Given the description of an element on the screen output the (x, y) to click on. 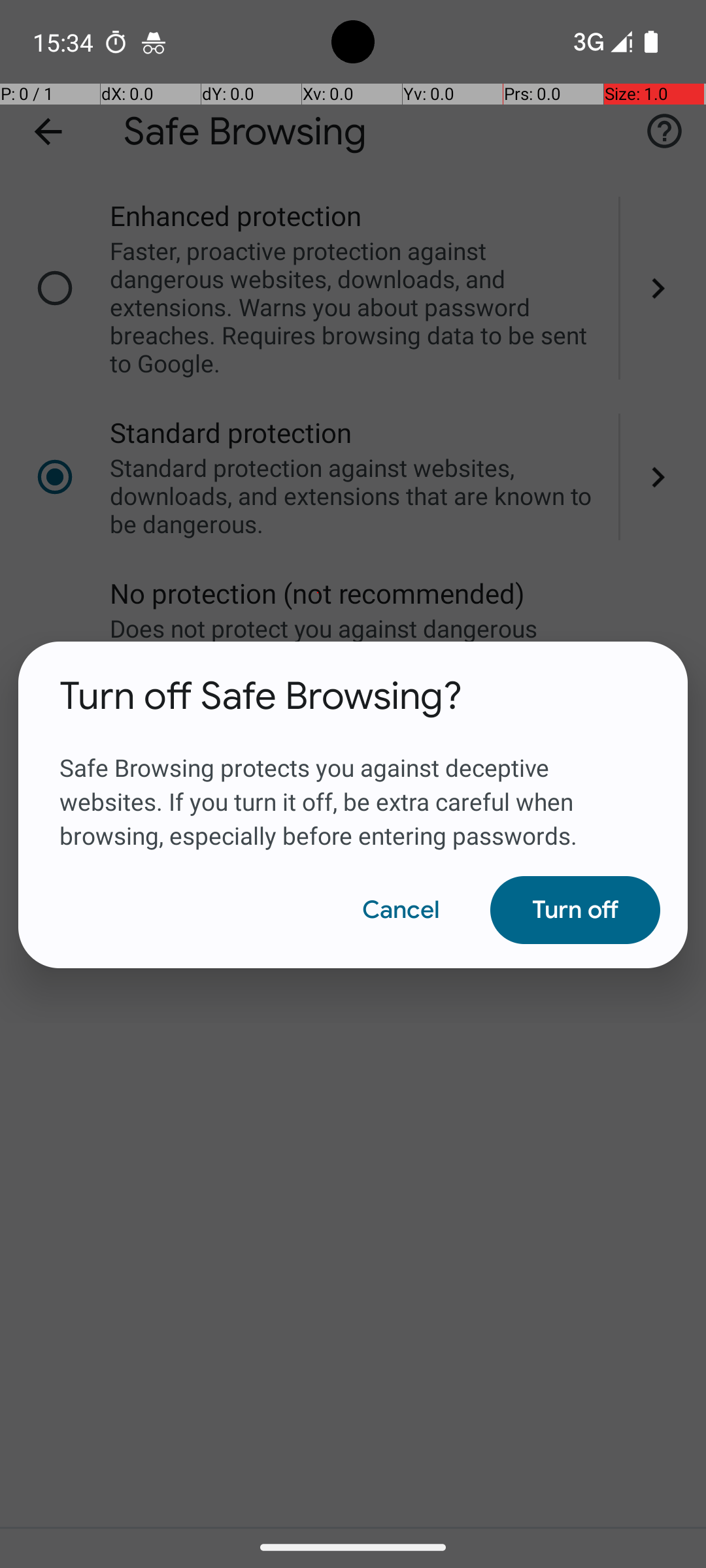
Turn off Safe Browsing? Element type: android.widget.TextView (260, 695)
Safe Browsing protects you against deceptive websites. If you turn it off, be extra careful when browsing, especially before entering passwords. Element type: android.widget.TextView (352, 785)
Turn off Element type: android.widget.Button (575, 909)
